Given the description of an element on the screen output the (x, y) to click on. 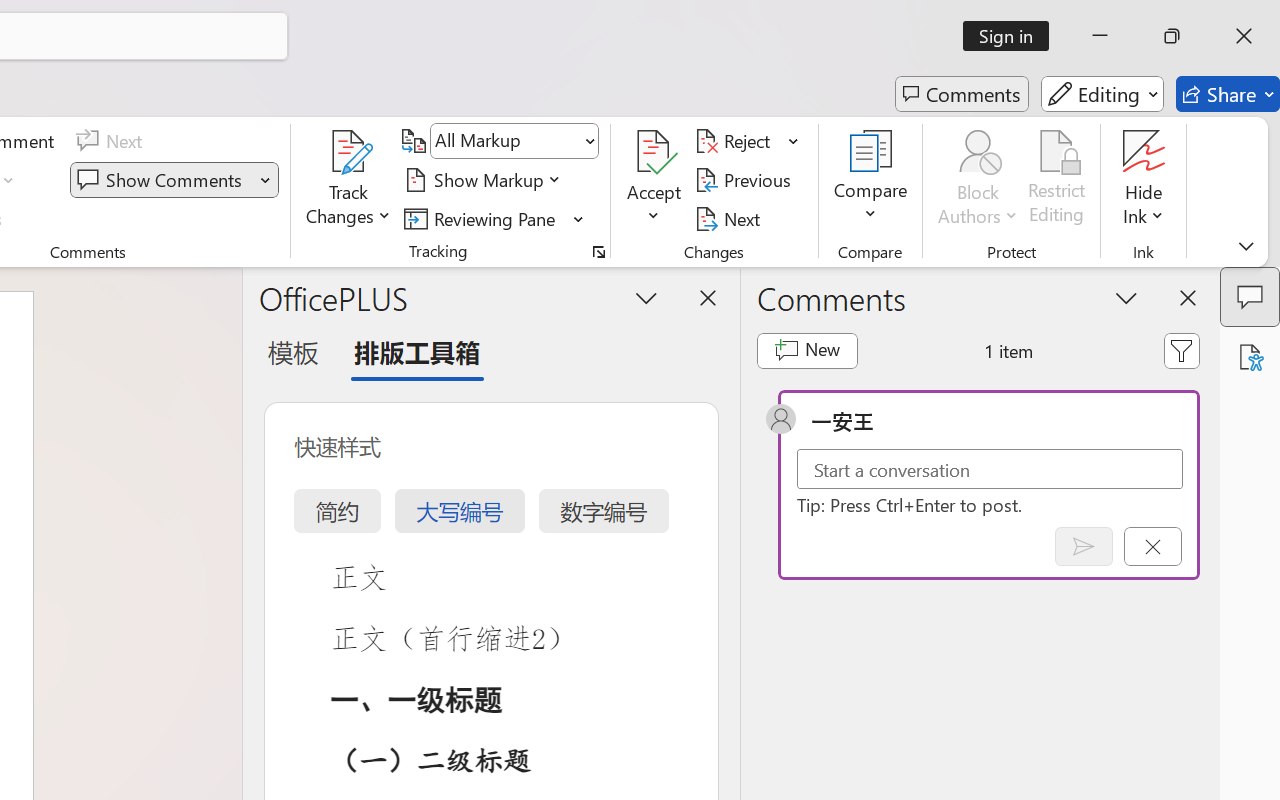
Hide Ink (1144, 179)
Editing (1101, 94)
Reject and Move to Next (735, 141)
Track Changes (349, 151)
Sign in (1012, 35)
Change Tracking Options... (598, 252)
Reviewing Pane (494, 218)
Accept and Move to Next (653, 151)
